Given the description of an element on the screen output the (x, y) to click on. 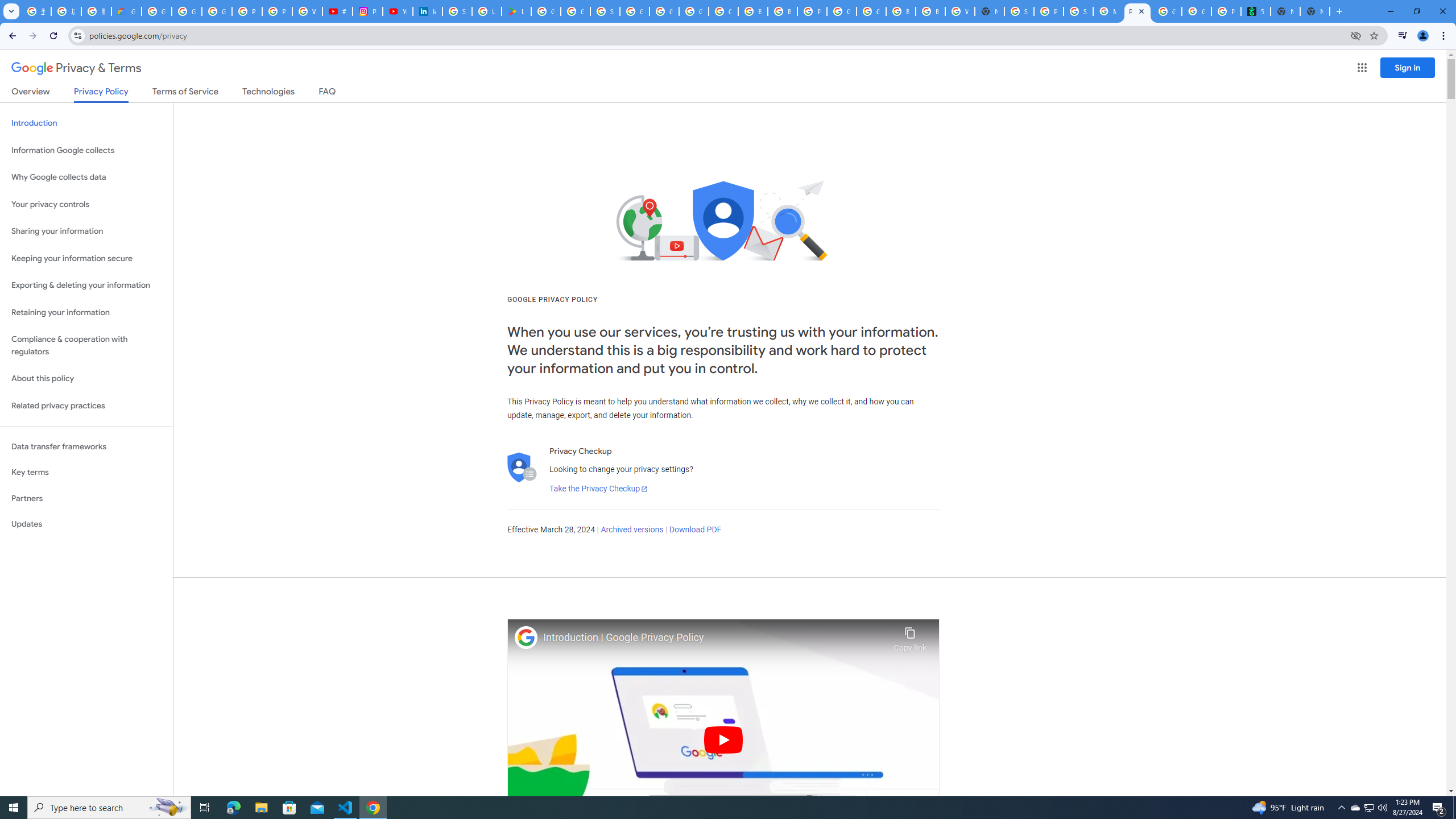
Sign in - Google Accounts (604, 11)
Last Shelter: Survival - Apps on Google Play (515, 11)
Introduction | Google Privacy Policy (715, 637)
